Given the description of an element on the screen output the (x, y) to click on. 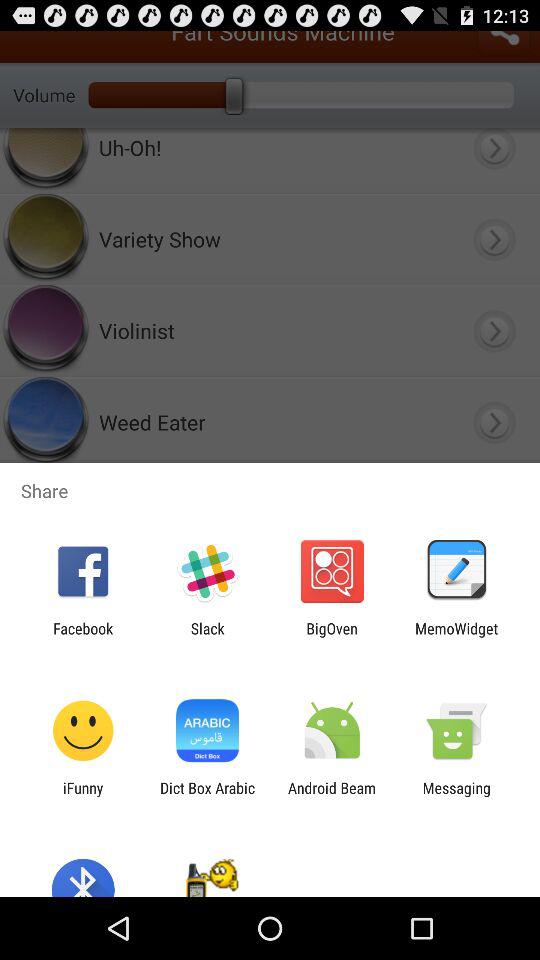
open the item next to bigoven icon (207, 637)
